Given the description of an element on the screen output the (x, y) to click on. 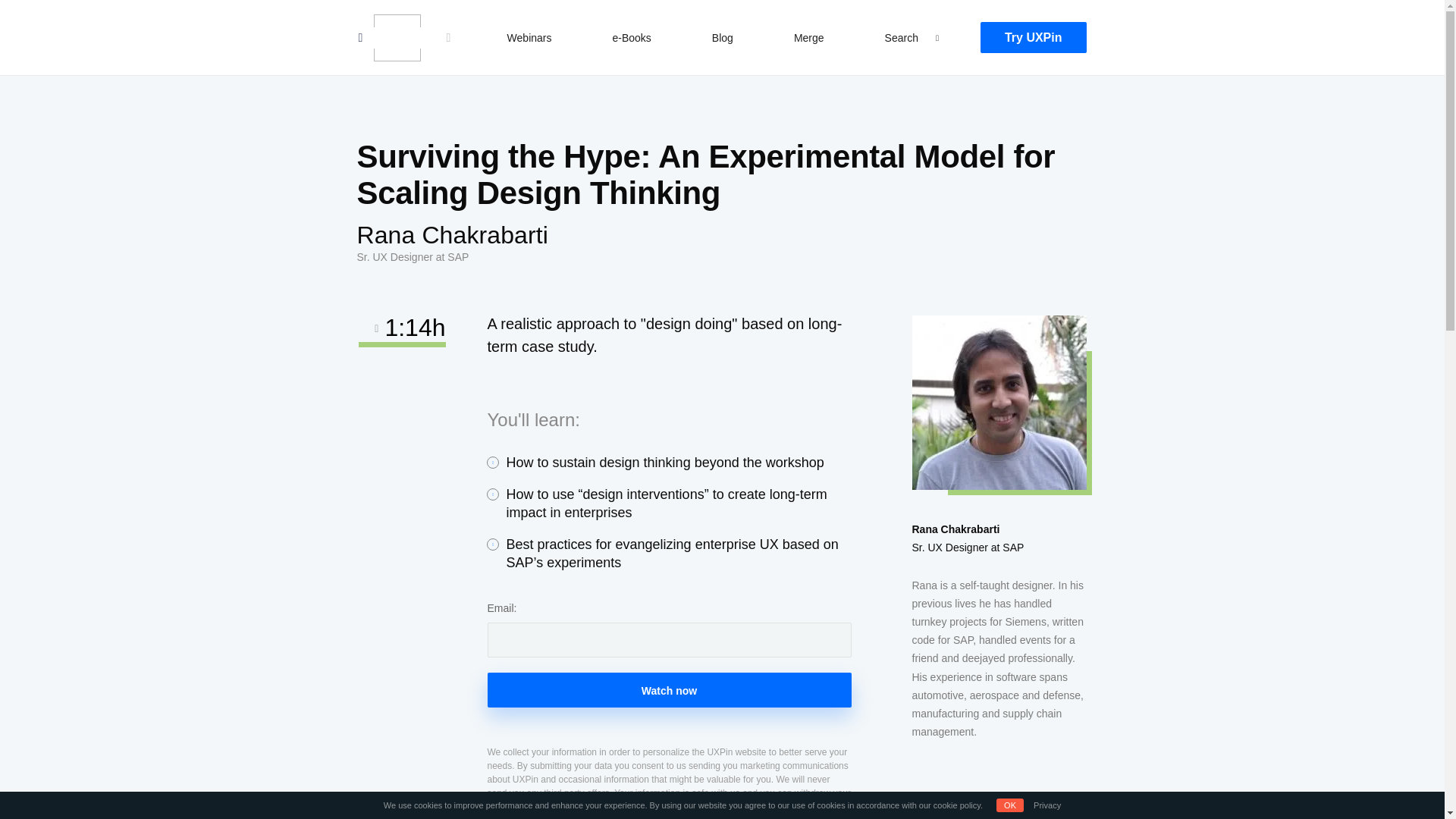
Search (901, 37)
Webinars (529, 37)
e-Books (631, 37)
Studio by UXPin (396, 37)
Blog (722, 37)
Watch now (668, 689)
Studio by UXPin (396, 37)
Merge (808, 37)
Search (27, 13)
Privacy Policy (514, 816)
